Given the description of an element on the screen output the (x, y) to click on. 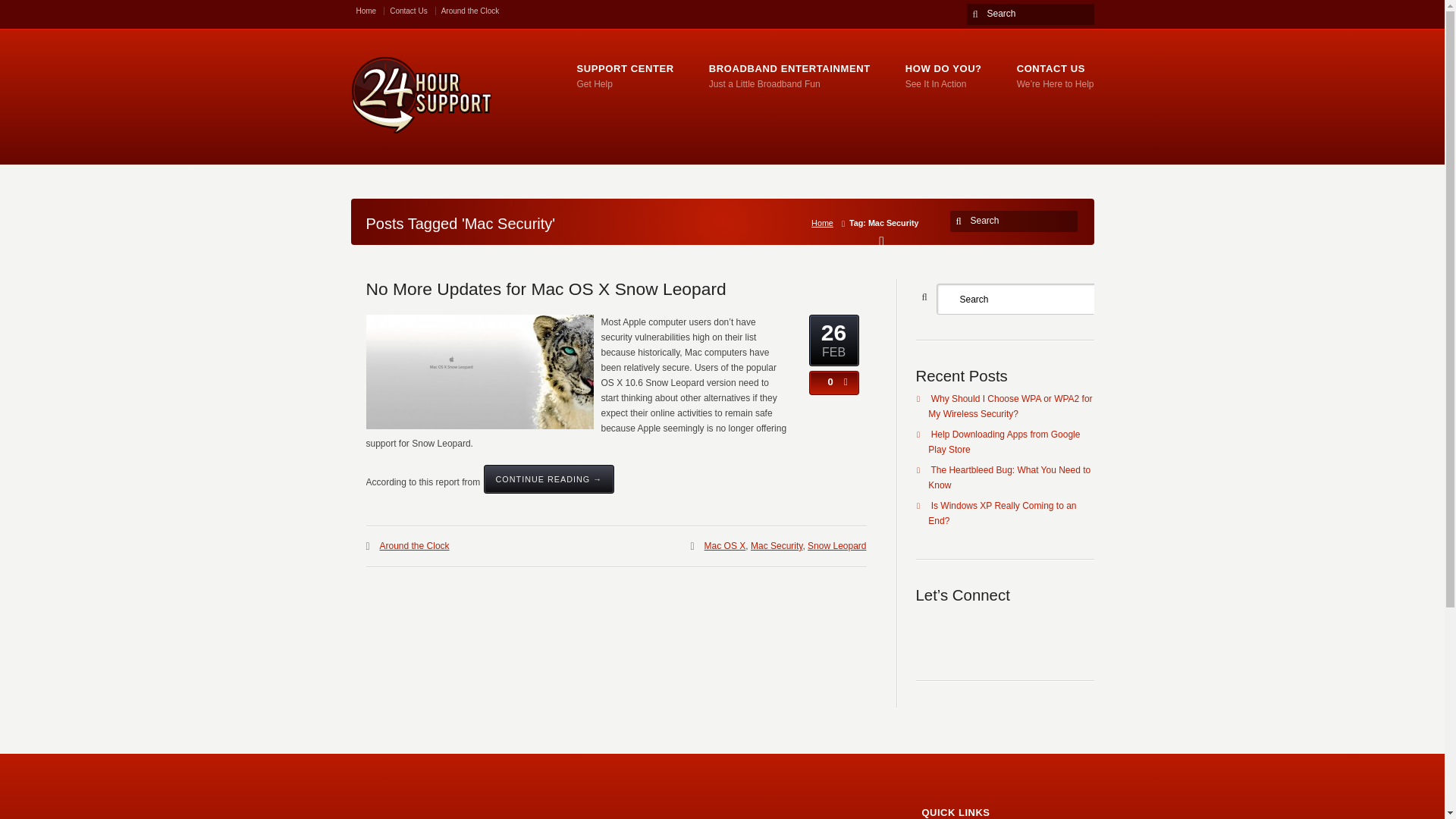
HOW DO YOU?
See It In Action Element type: text (943, 75)
Contact Us Element type: text (412, 10)
Why Should I Choose WPA or WPA2 for My Wireless Security? Element type: text (1010, 406)
Help Downloading Apps from Google Play Store Element type: text (1003, 442)
Is Windows XP Really Coming to an End? Element type: text (1002, 513)
Around the Clock Element type: text (470, 10)
Home Element type: text (370, 10)
search Element type: text (977, 13)
Around the Clock Element type: text (413, 545)
search Element type: text (960, 220)
Snow Leopard Element type: text (836, 545)
RSS Element type: text (928, 630)
BROADBAND ENTERTAINMENT
Just a Little Broadband Fun Element type: text (789, 75)
No More Updates for Mac OS X Snow Leopard Element type: text (545, 288)
Twitter Element type: text (961, 630)
Mac OS X Element type: text (725, 545)
0 Element type: text (826, 381)
The Heartbleed Bug: What You Need to Know Element type: text (1009, 477)
SUPPORT CENTER
Get Help Element type: text (624, 75)
Home Element type: text (825, 222)
Mac Security Element type: text (776, 545)
